Given the description of an element on the screen output the (x, y) to click on. 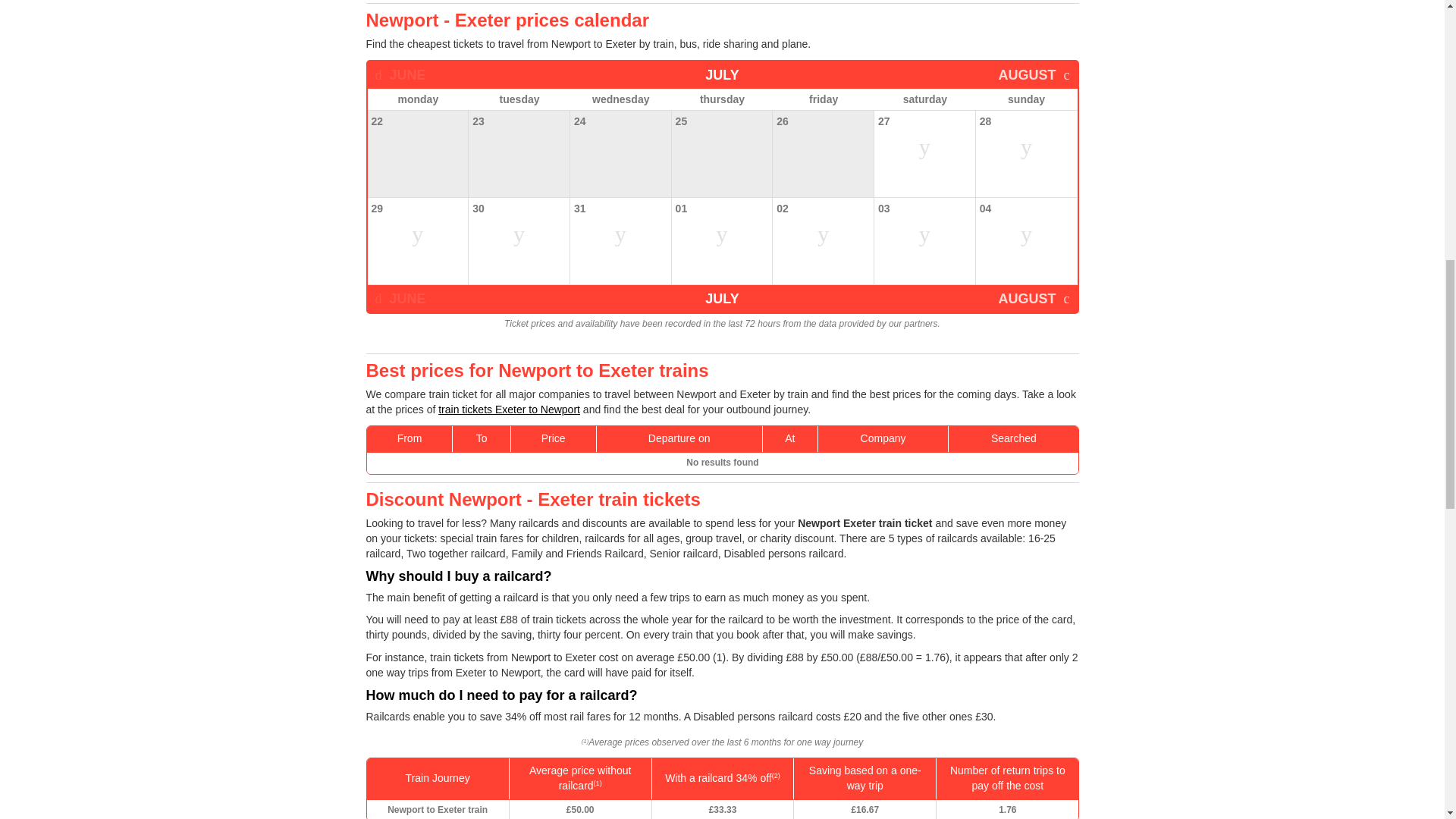
AUGUST   (1032, 298)
train tickets Exeter to Newport (508, 409)
AUGUST   (1032, 74)
  JUNE (399, 298)
  JUNE (399, 74)
